Given the description of an element on the screen output the (x, y) to click on. 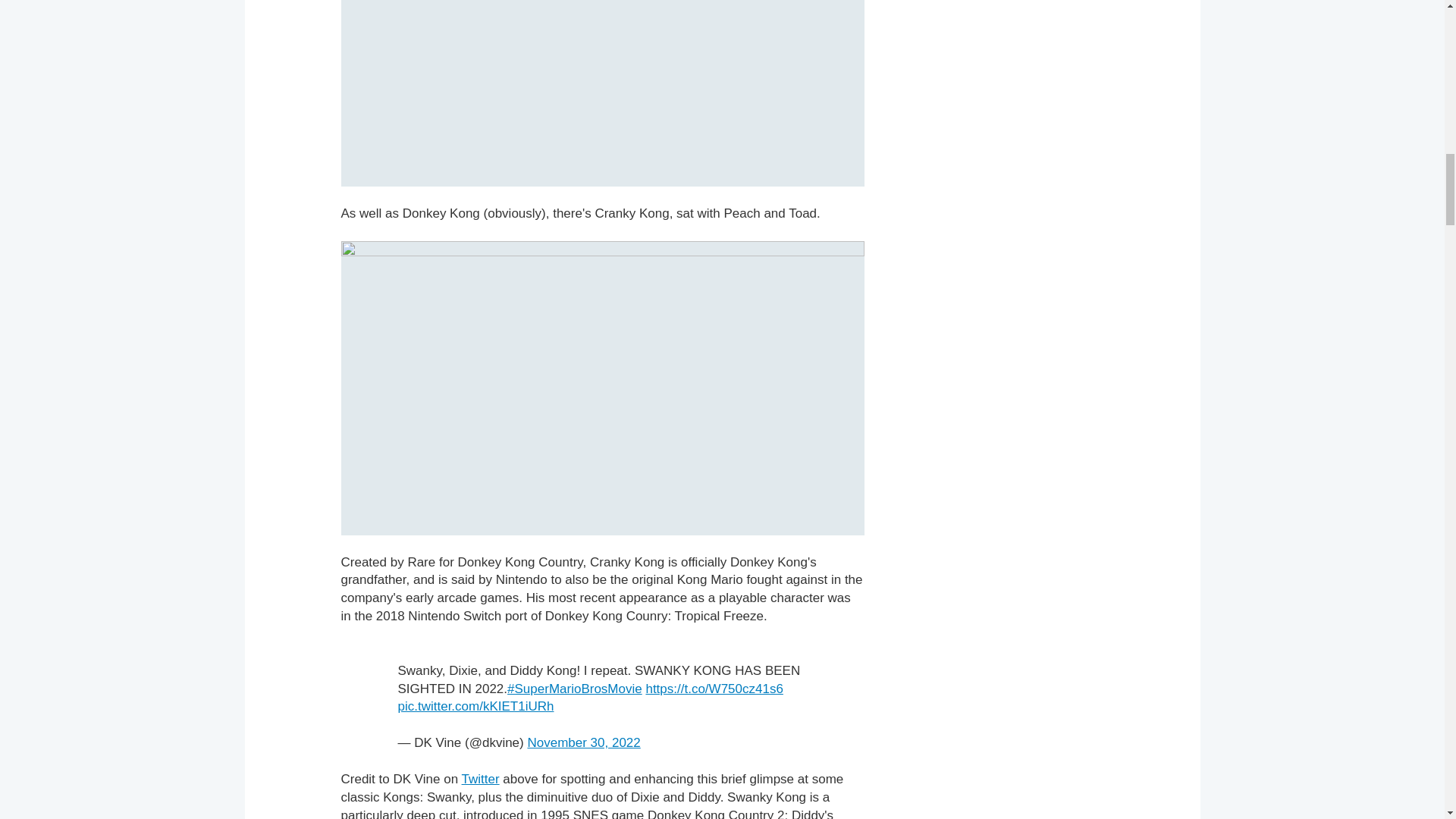
November 30, 2022 (583, 742)
Twitter (480, 779)
